Given the description of an element on the screen output the (x, y) to click on. 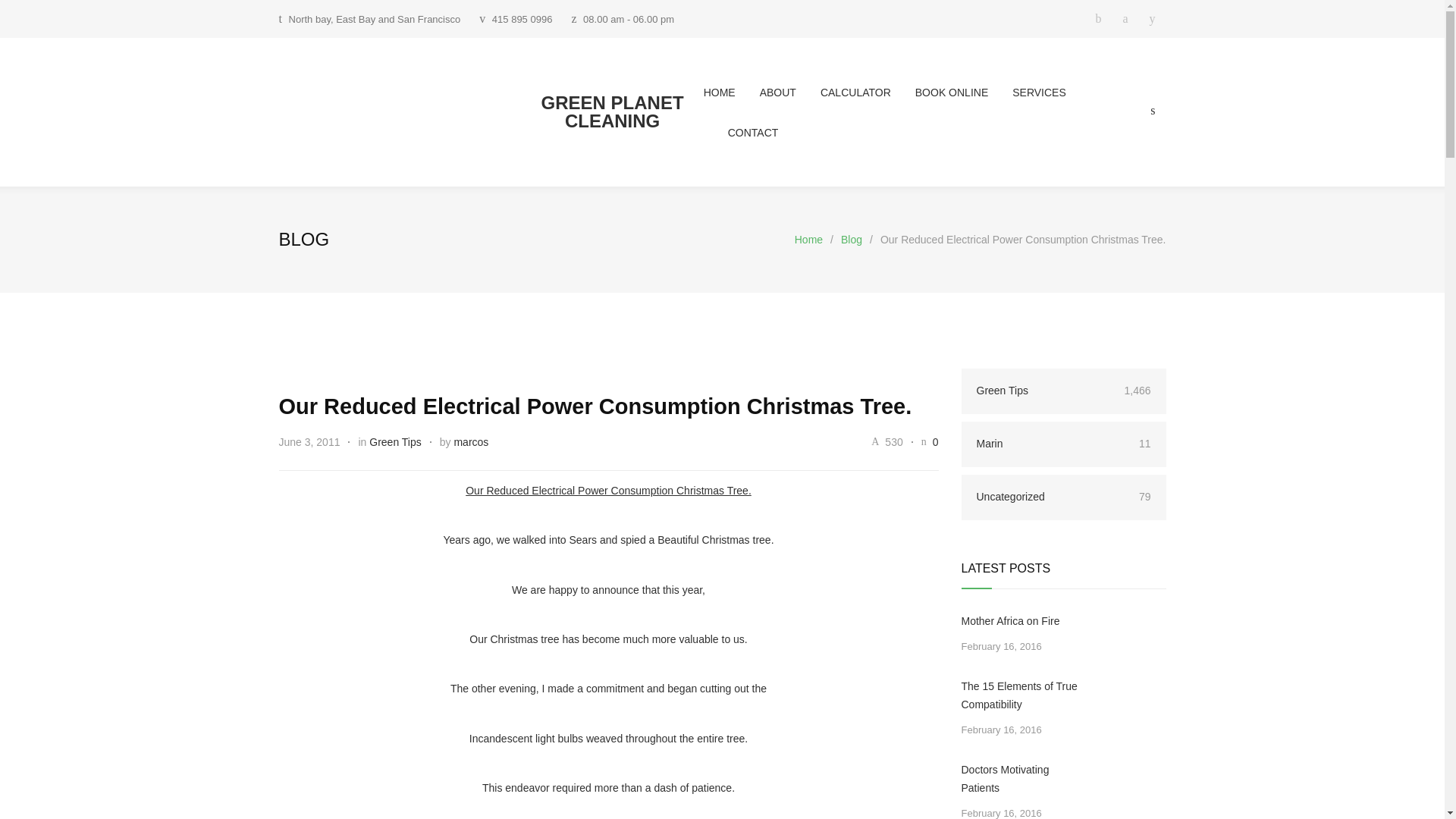
Our Reduced Electrical Power Consumption Christmas Tree. (595, 405)
BOOK ONLINE (939, 92)
Home (808, 239)
Blog (851, 239)
415 895 0996 (522, 19)
SERVICES (1026, 92)
GREEN PLANET CLEANING (491, 111)
ABOUT (765, 92)
View all posts filed under Green Tips (394, 441)
marcos (469, 441)
